Given the description of an element on the screen output the (x, y) to click on. 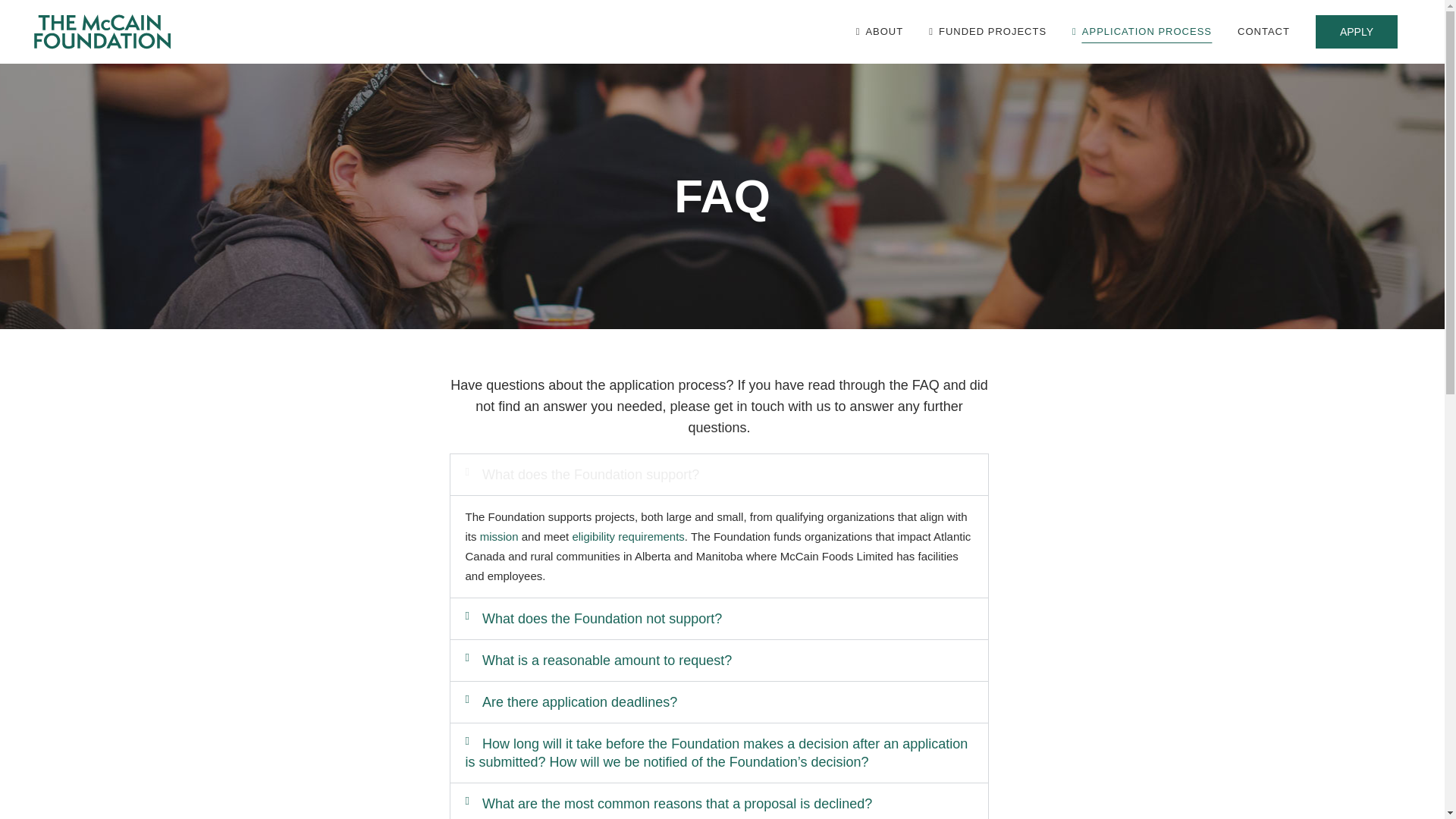
eligibility requirements (628, 535)
mission (499, 535)
Are there application deadlines? (579, 702)
What is a reasonable amount to request? (606, 660)
APPLY (1356, 31)
What does the Foundation support? (589, 474)
get in touch (749, 406)
CONTACT (1263, 31)
What does the Foundation not support? (601, 618)
APPLICATION PROCESS (1141, 31)
ABOUT (880, 31)
FUNDED PROJECTS (987, 31)
